Given the description of an element on the screen output the (x, y) to click on. 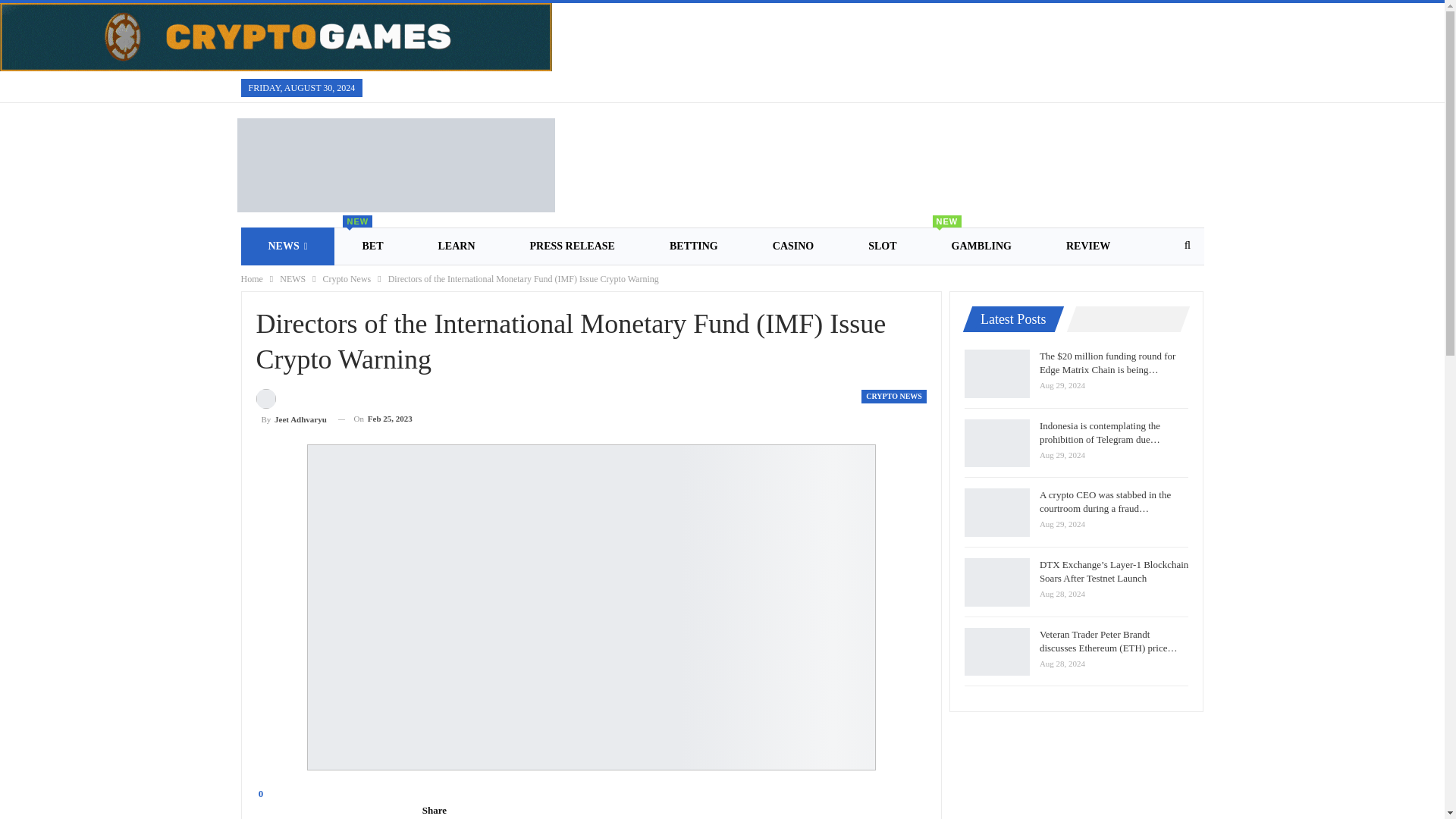
PRIVACY POLICY (981, 246)
By Jeet Adhvaryu (531, 284)
CRYPTO NEWS (291, 409)
Home (893, 396)
NEWS (252, 279)
Browse Author Articles (287, 246)
DISCOVER (291, 409)
NEWS (296, 284)
DISCLAIMER (292, 279)
